Given the description of an element on the screen output the (x, y) to click on. 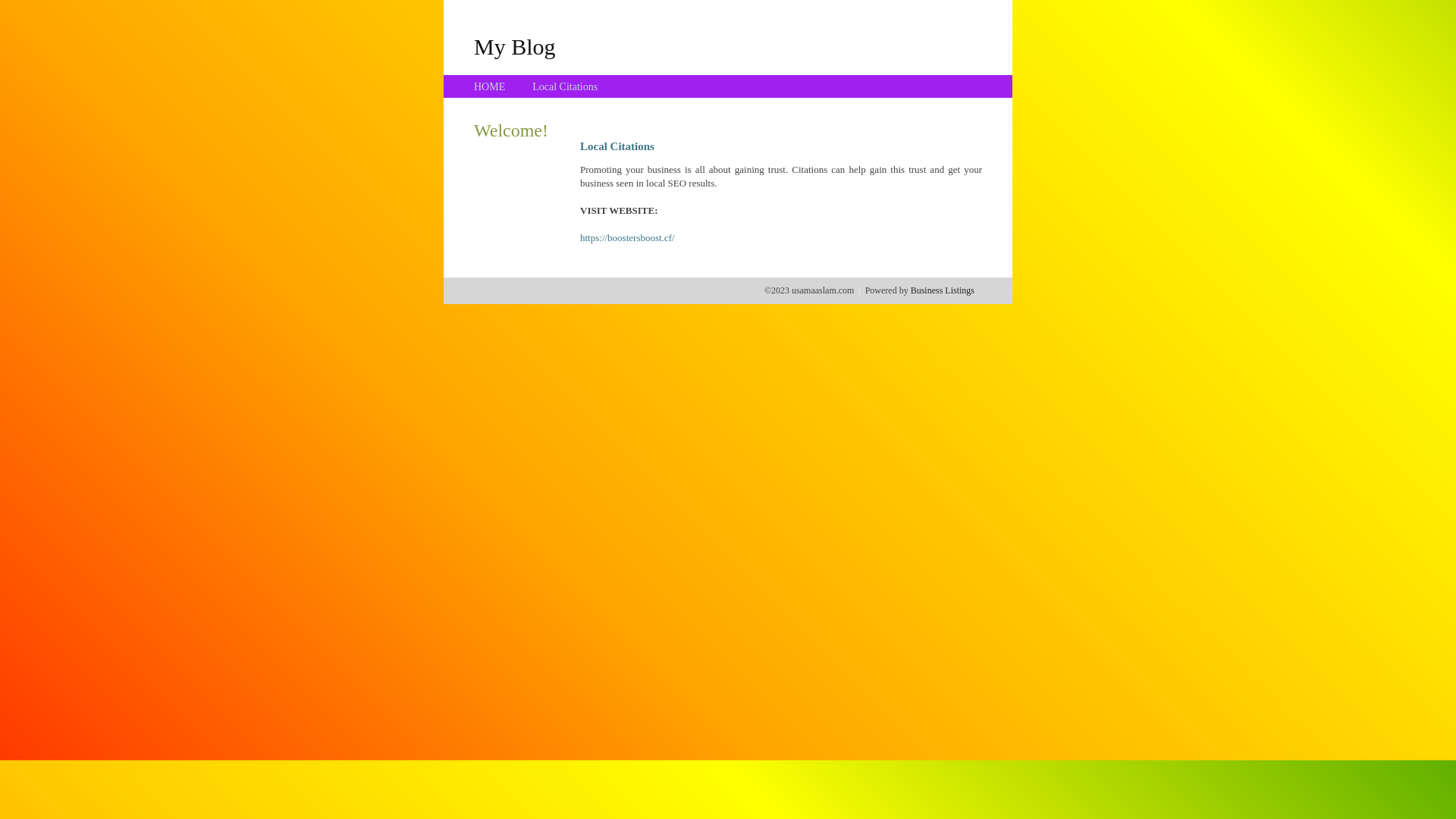
Business Listings Element type: text (942, 290)
Local Citations Element type: text (564, 86)
HOME Element type: text (489, 86)
My Blog Element type: text (514, 46)
https://boostersboost.cf/ Element type: text (627, 237)
